Given the description of an element on the screen output the (x, y) to click on. 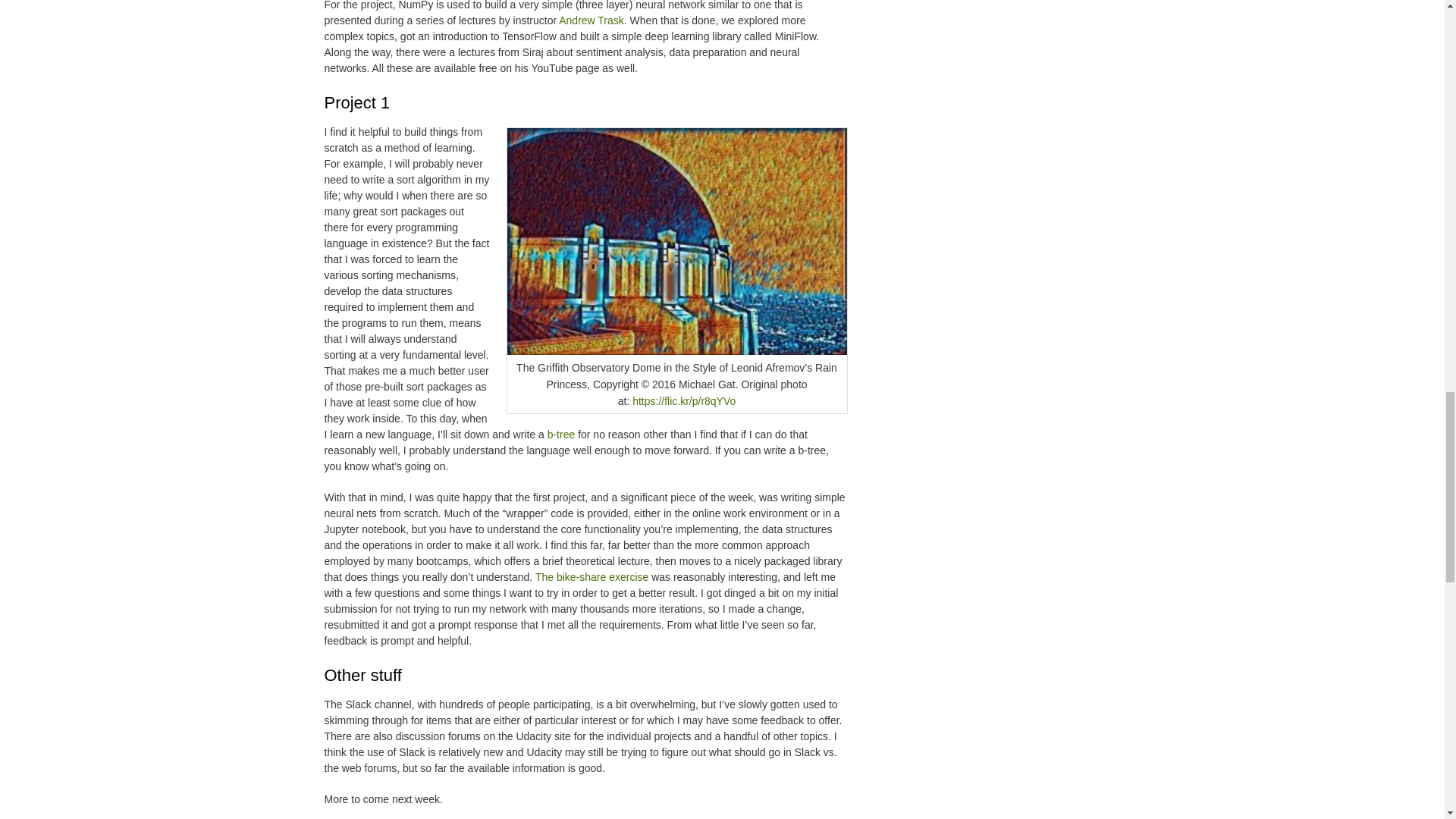
Andrew Trask (591, 20)
b-tree (561, 434)
The bike-share exercise (591, 576)
